Given the description of an element on the screen output the (x, y) to click on. 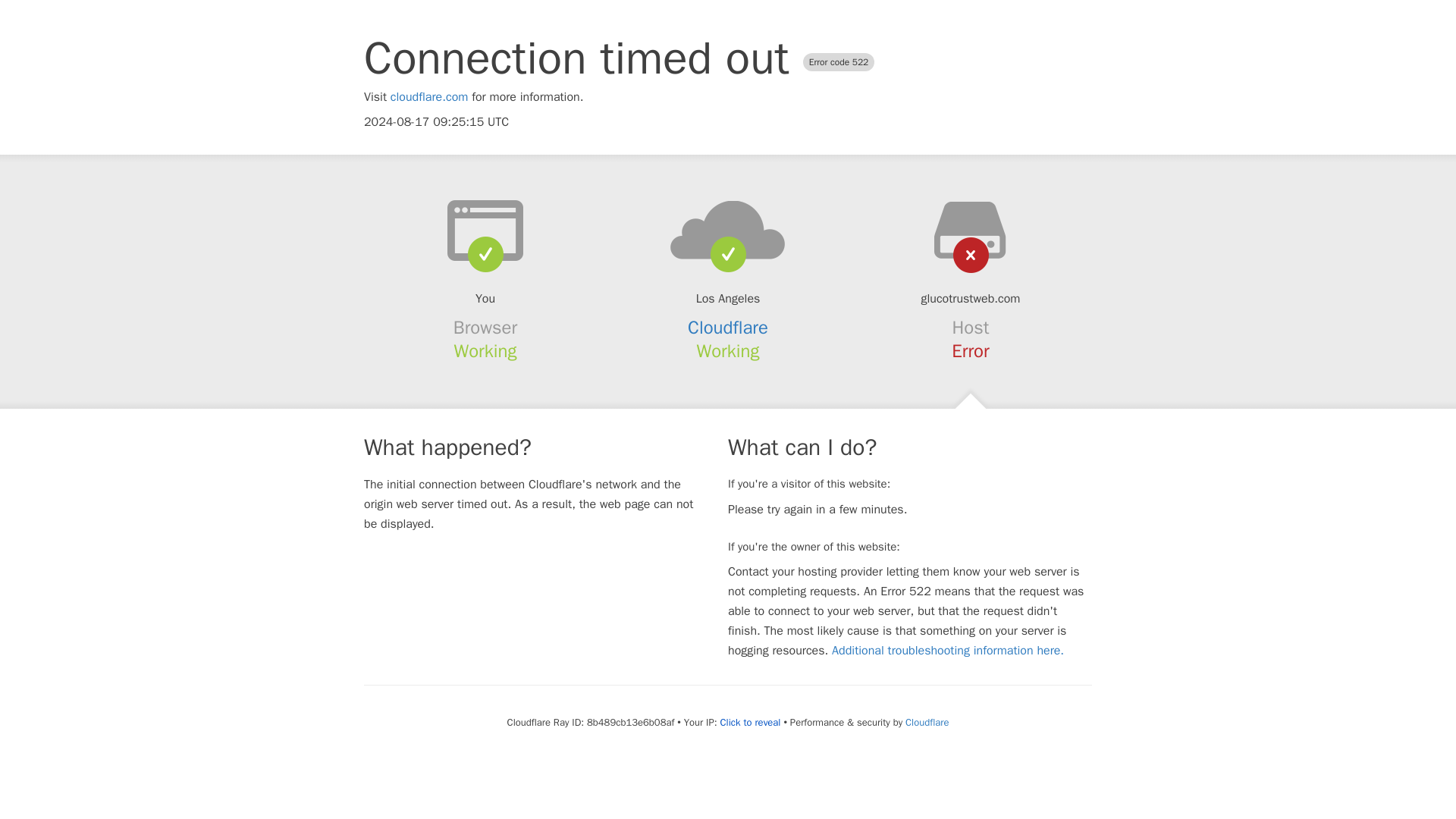
Click to reveal (750, 722)
cloudflare.com (429, 96)
Additional troubleshooting information here. (947, 650)
Cloudflare (927, 721)
Cloudflare (727, 327)
